Given the description of an element on the screen output the (x, y) to click on. 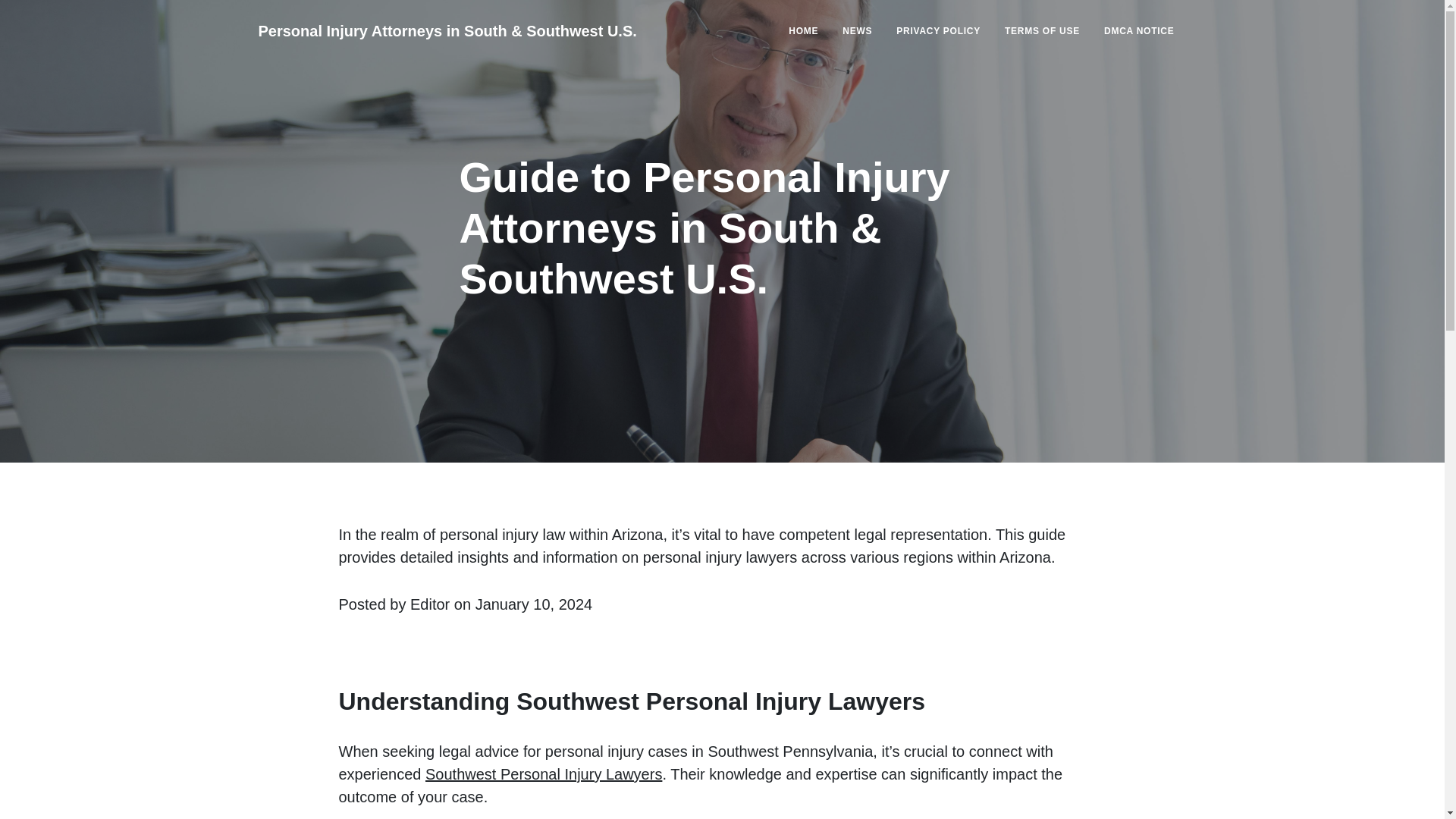
Editor (429, 604)
NEWS (856, 30)
HOME (802, 30)
TERMS OF USE (1042, 30)
PRIVACY POLICY (937, 30)
DMCA NOTICE (1139, 30)
Southwest Personal Injury Lawyers (543, 773)
